Given the description of an element on the screen output the (x, y) to click on. 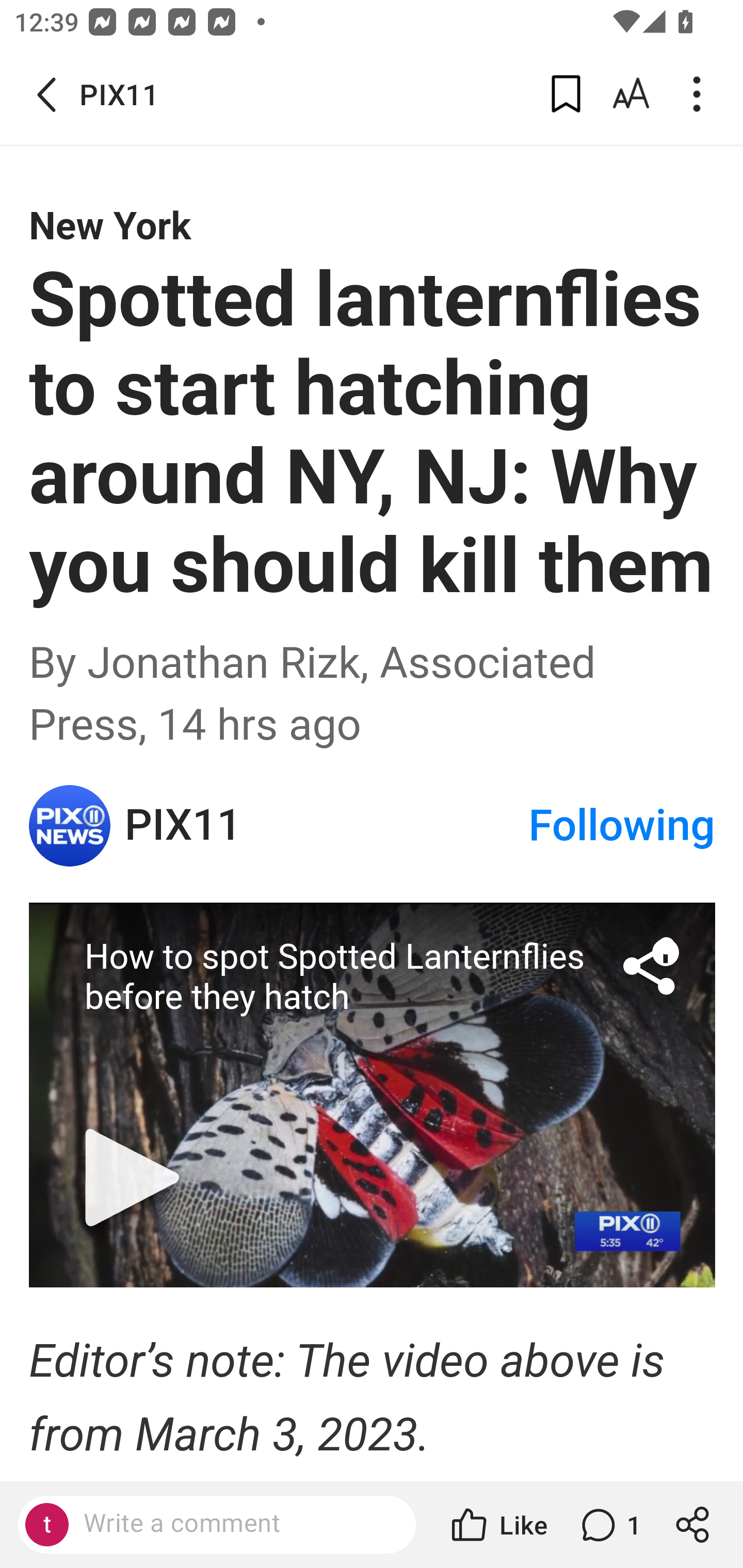
PIX11 (70, 825)
PIX11 (325, 826)
Following (621, 825)
How to spot Spotted Lanternflies before they hatch (372, 1094)
Like (497, 1524)
1 (608, 1524)
Write a comment (216, 1524)
Write a comment (234, 1523)
